Given the description of an element on the screen output the (x, y) to click on. 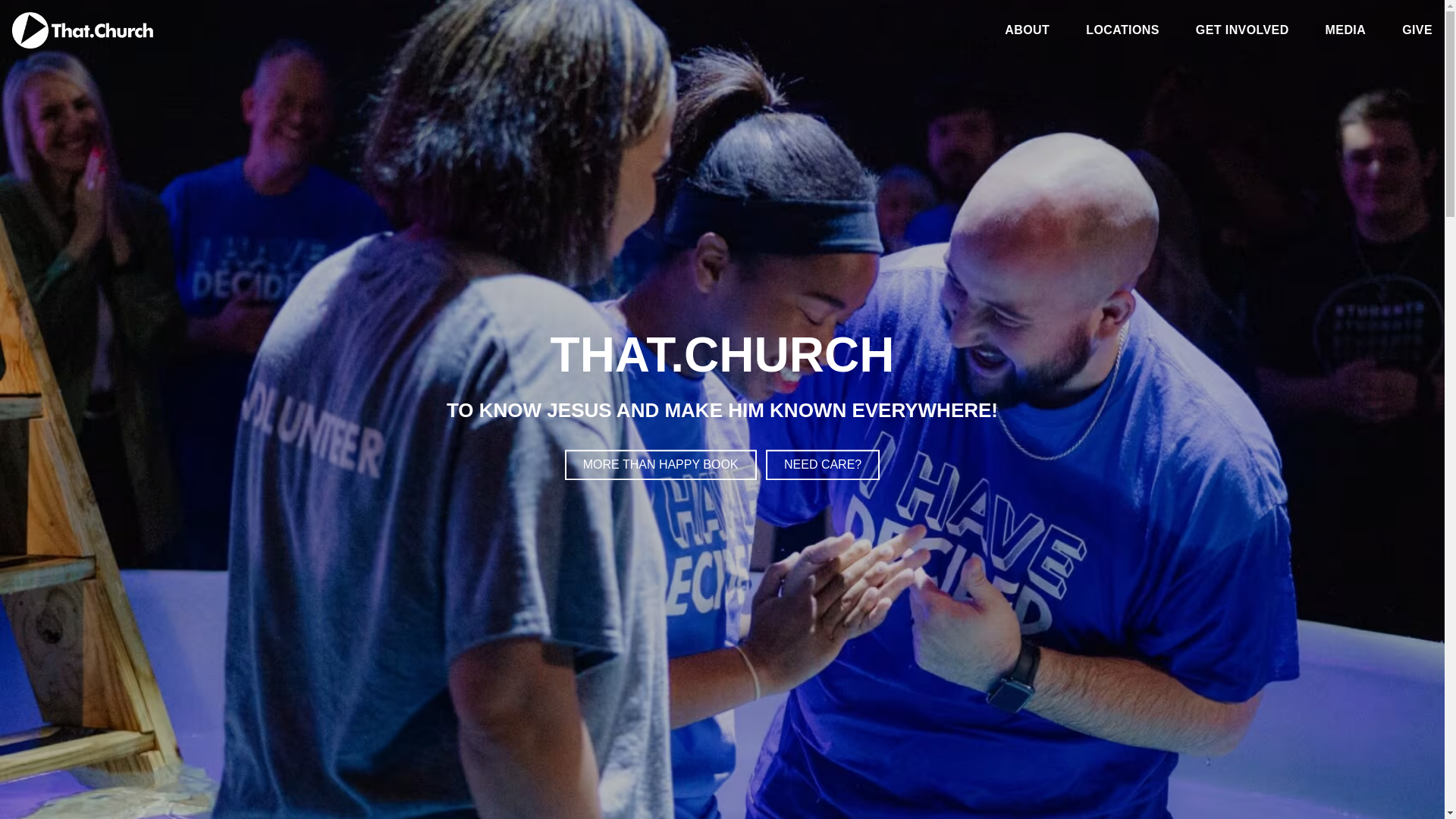
ABOUT (1026, 33)
GIVE (1417, 33)
MORE THAN HAPPY BOOK (660, 465)
GET INVOLVED (1241, 33)
LOCATIONS (1122, 33)
MEDIA (1345, 33)
